Given the description of an element on the screen output the (x, y) to click on. 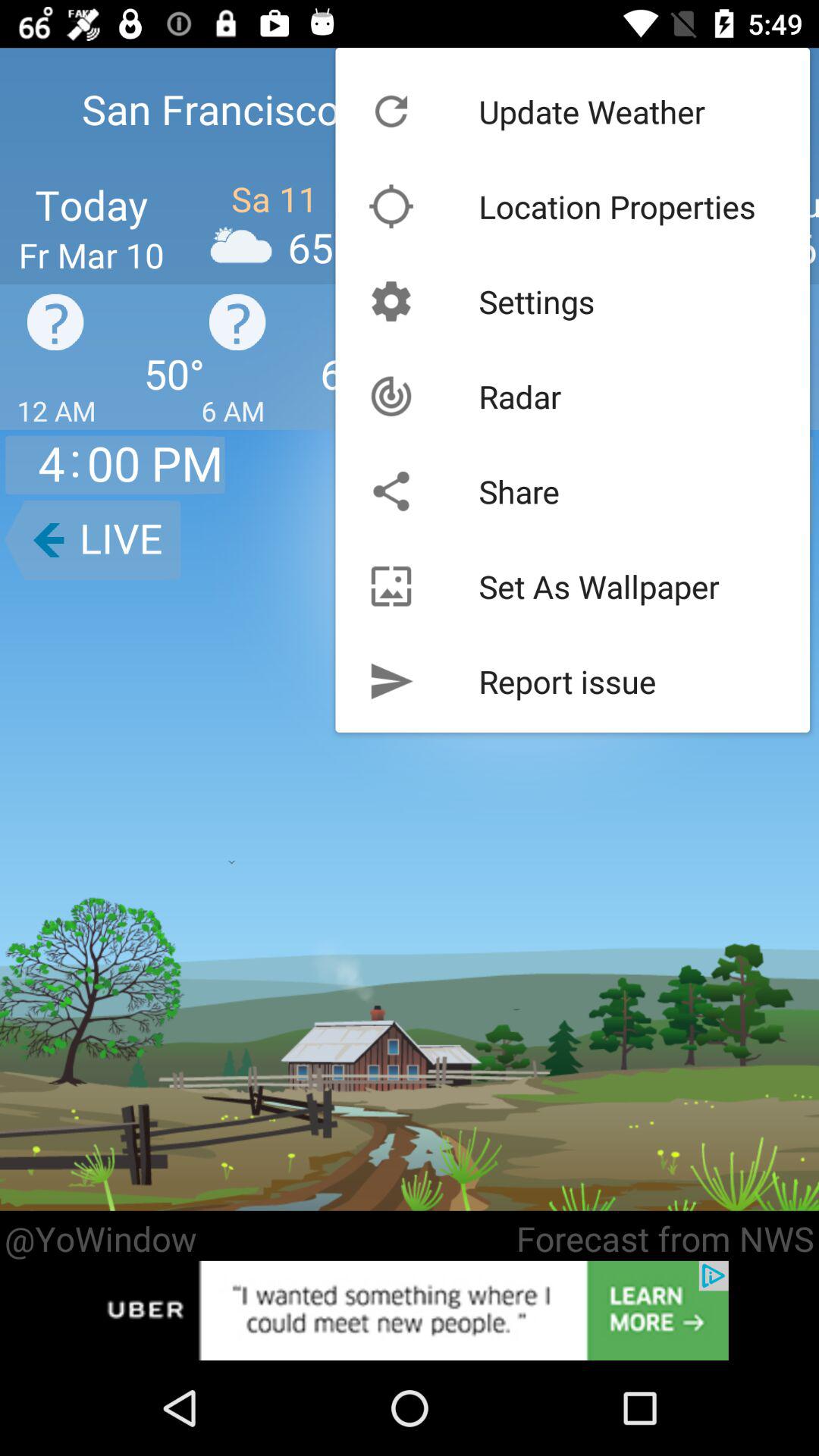
flip to radar (519, 396)
